Given the description of an element on the screen output the (x, y) to click on. 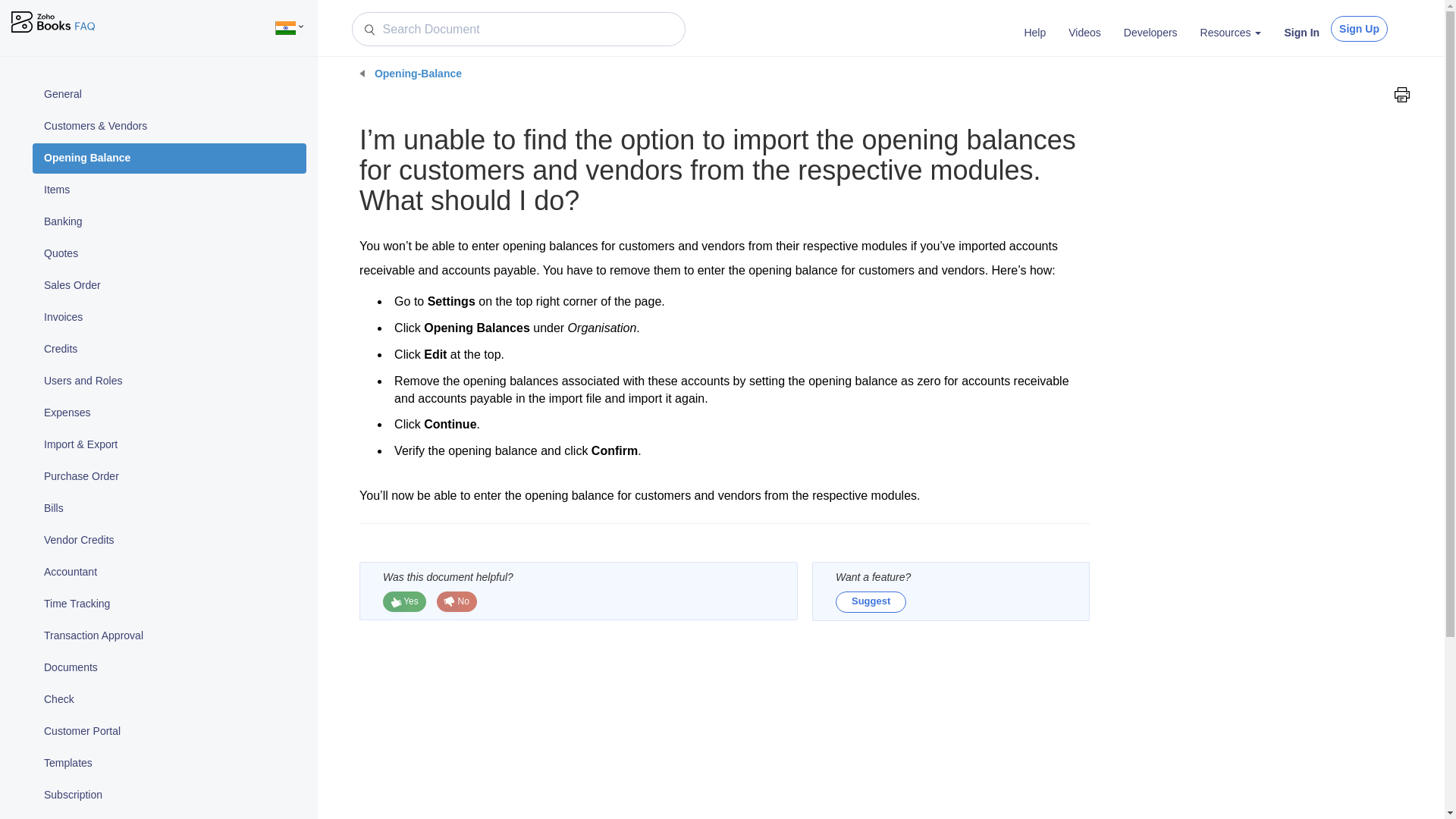
Sign In (1301, 32)
Developers (1150, 32)
Print this page (1401, 94)
Resources (1230, 32)
Videos (1084, 32)
Sign Up (1358, 28)
Help (1034, 32)
